Given the description of an element on the screen output the (x, y) to click on. 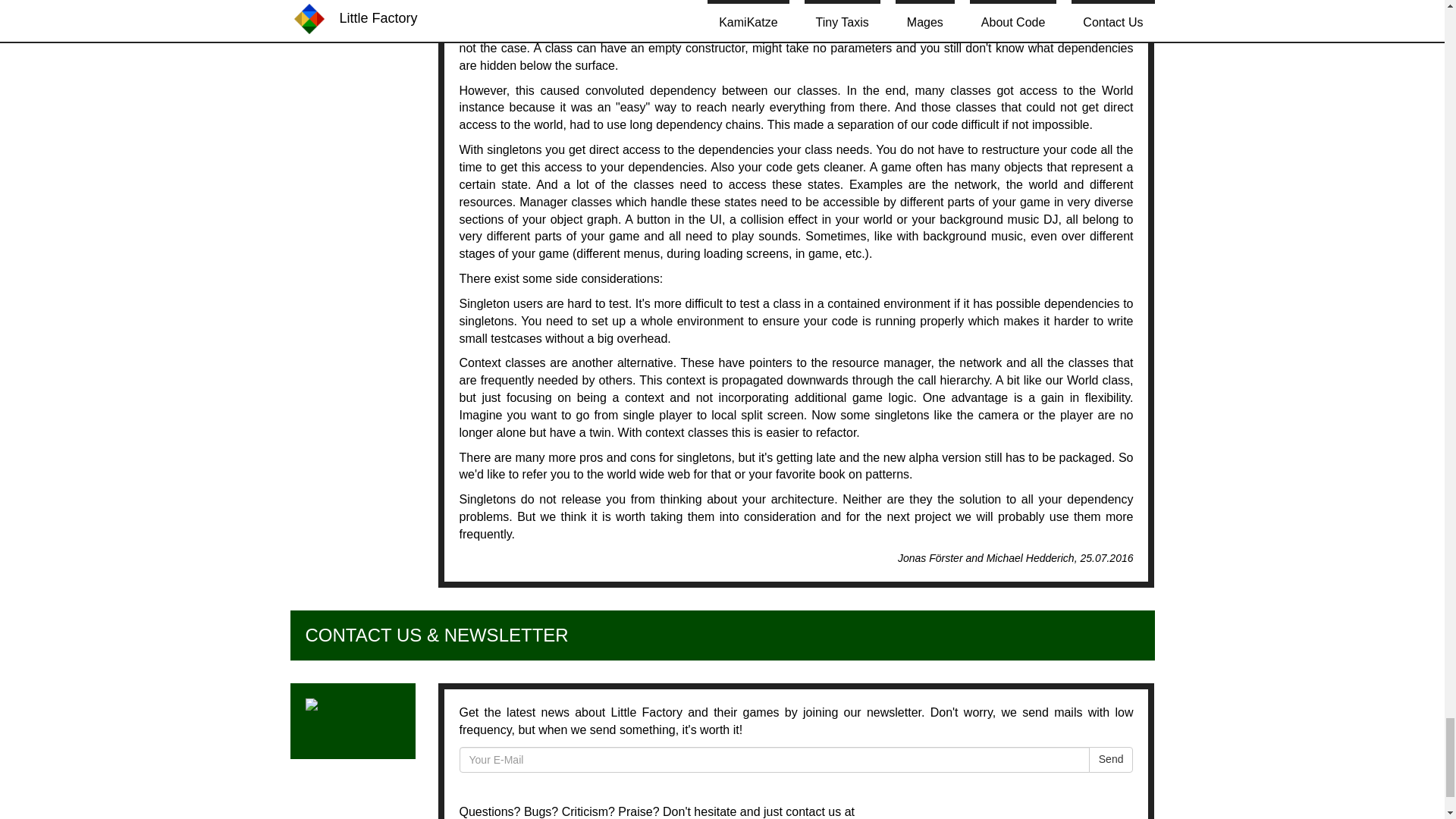
Send (1111, 759)
